Given the description of an element on the screen output the (x, y) to click on. 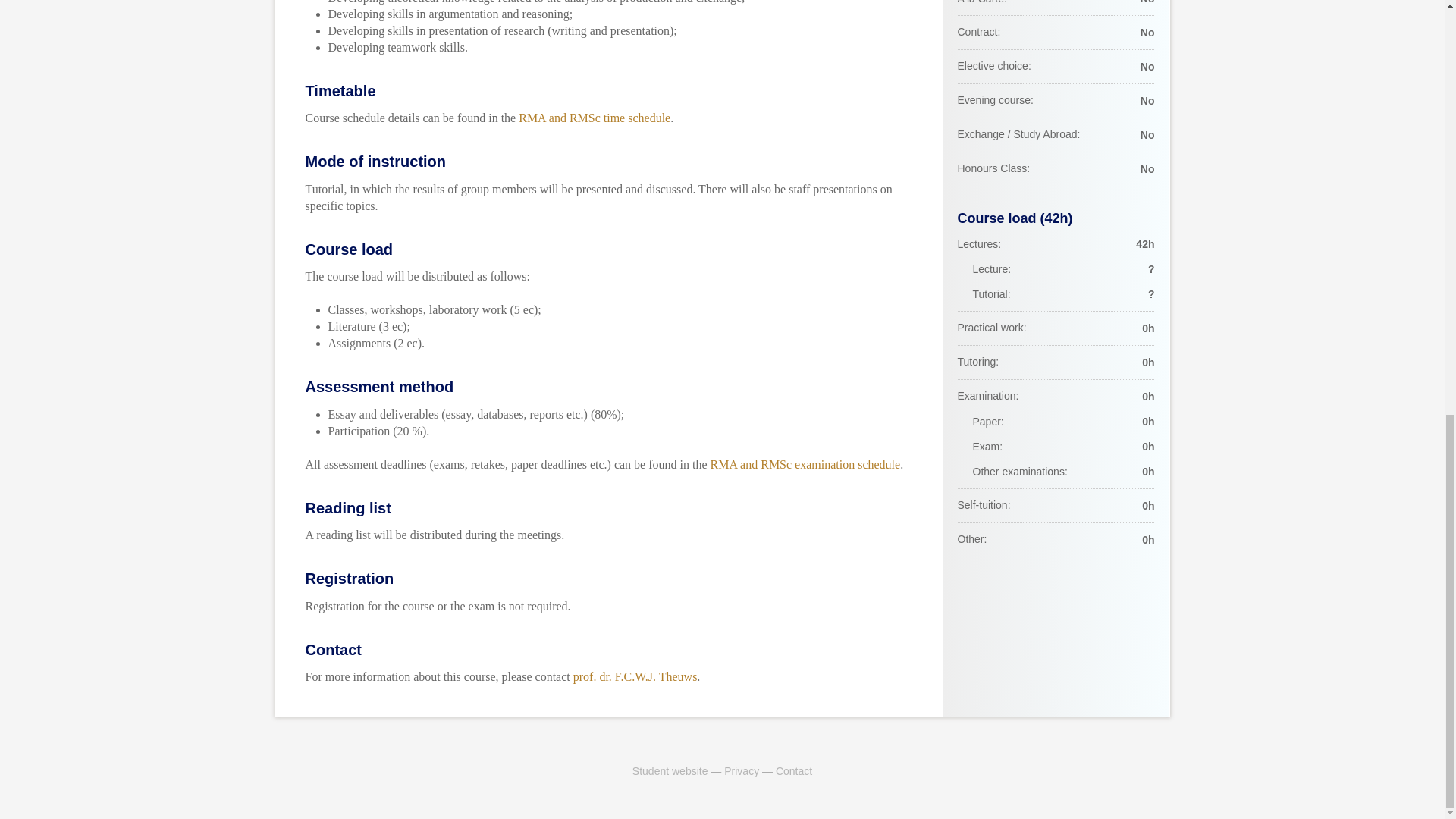
RMA and RMSc examination schedule (805, 463)
Student website (669, 770)
Privacy (740, 770)
Contact (794, 770)
prof. dr. F.C.W.J. Theuws (635, 676)
RMA and RMSc time schedule (593, 117)
